Given the description of an element on the screen output the (x, y) to click on. 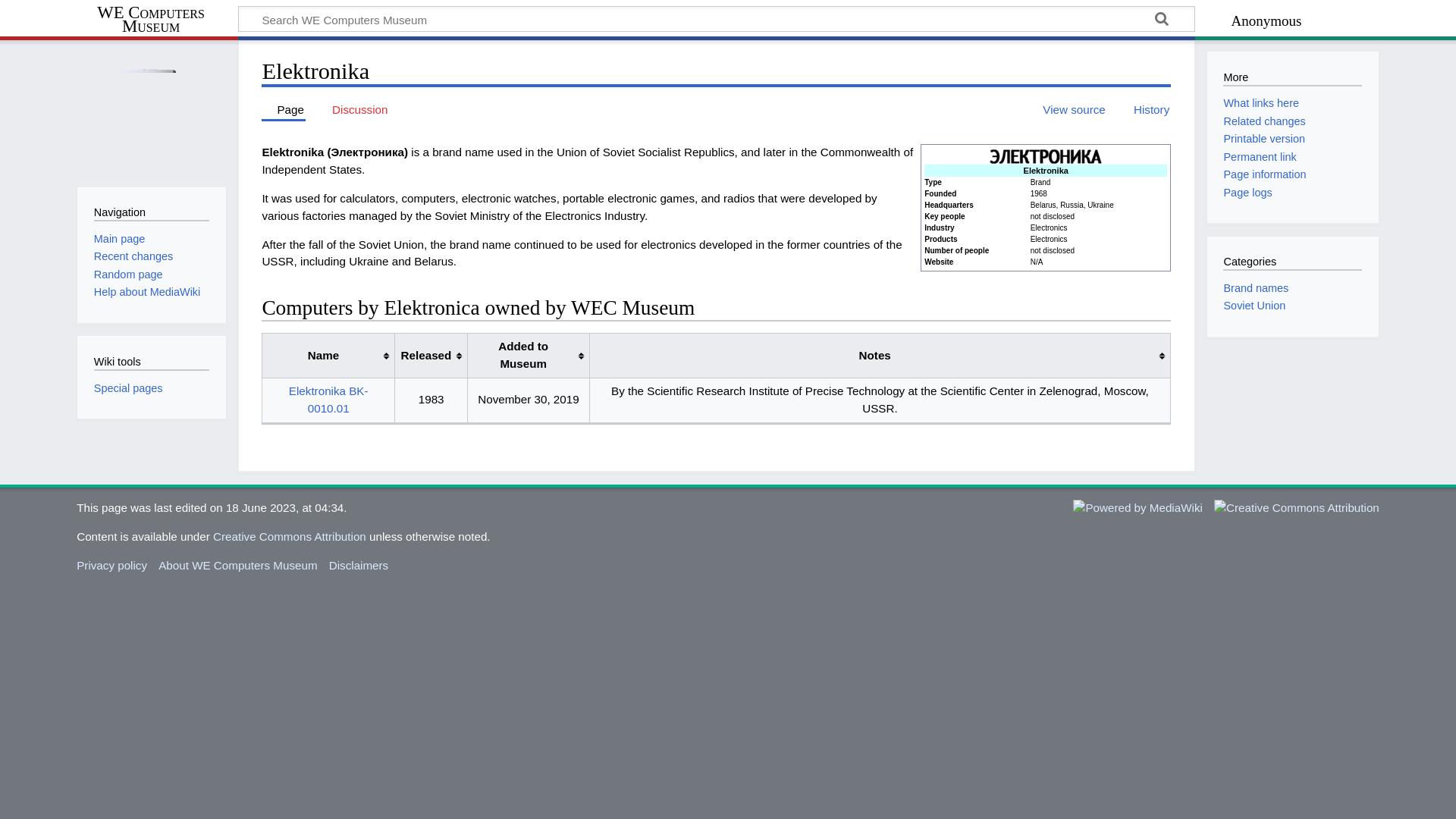
Related changes (1263, 121)
Permanent link (1259, 156)
Main page (119, 238)
Special pages (128, 387)
WE Computers Museum (157, 19)
Search (1162, 21)
Page information (1264, 174)
Search the pages for this text (1162, 21)
Elektronika BK-0010.01 (328, 399)
Go (1162, 21)
